Given the description of an element on the screen output the (x, y) to click on. 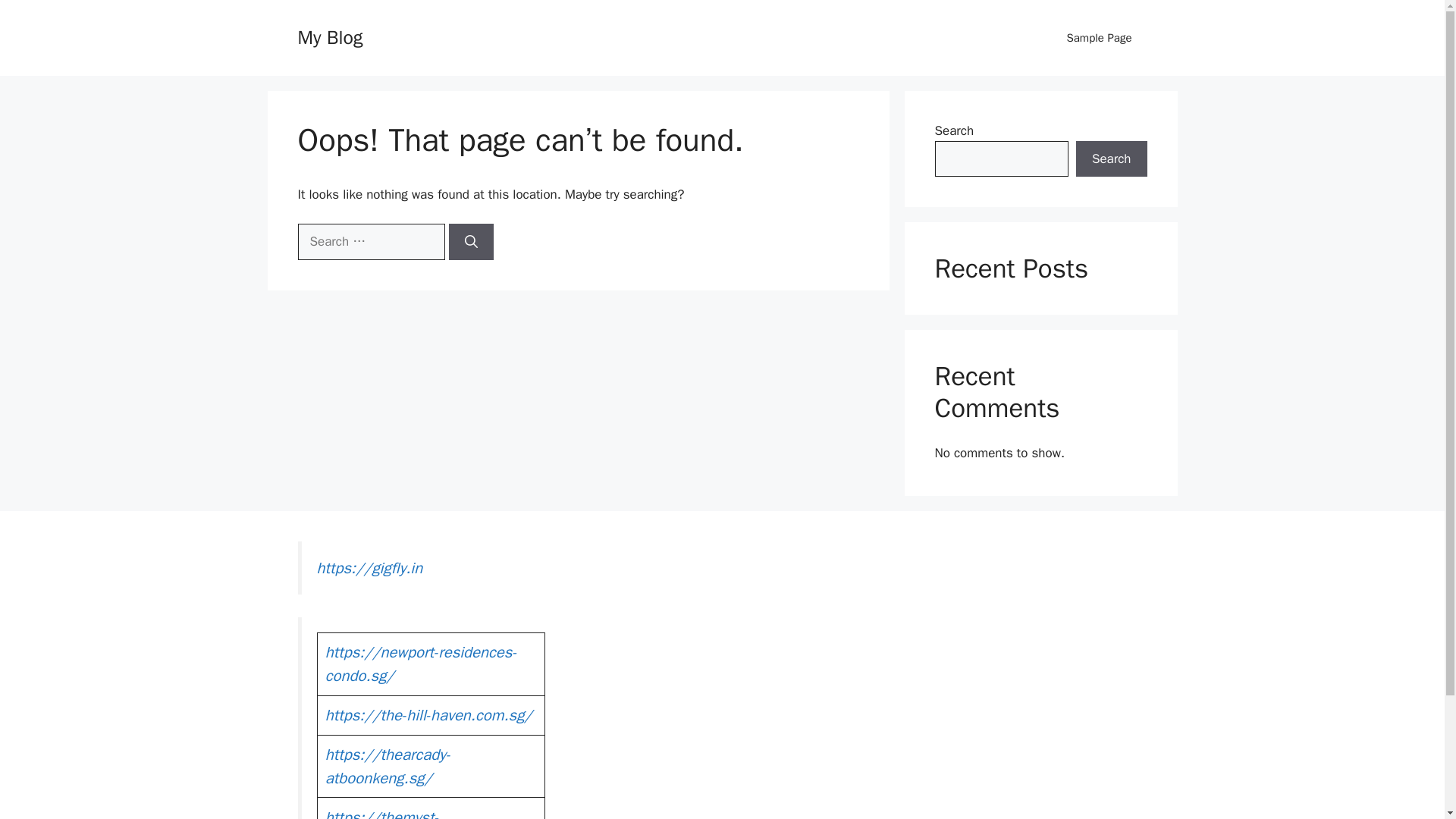
My Blog (329, 37)
Sample Page (1099, 37)
Search for: (370, 241)
Search (1111, 158)
